Given the description of an element on the screen output the (x, y) to click on. 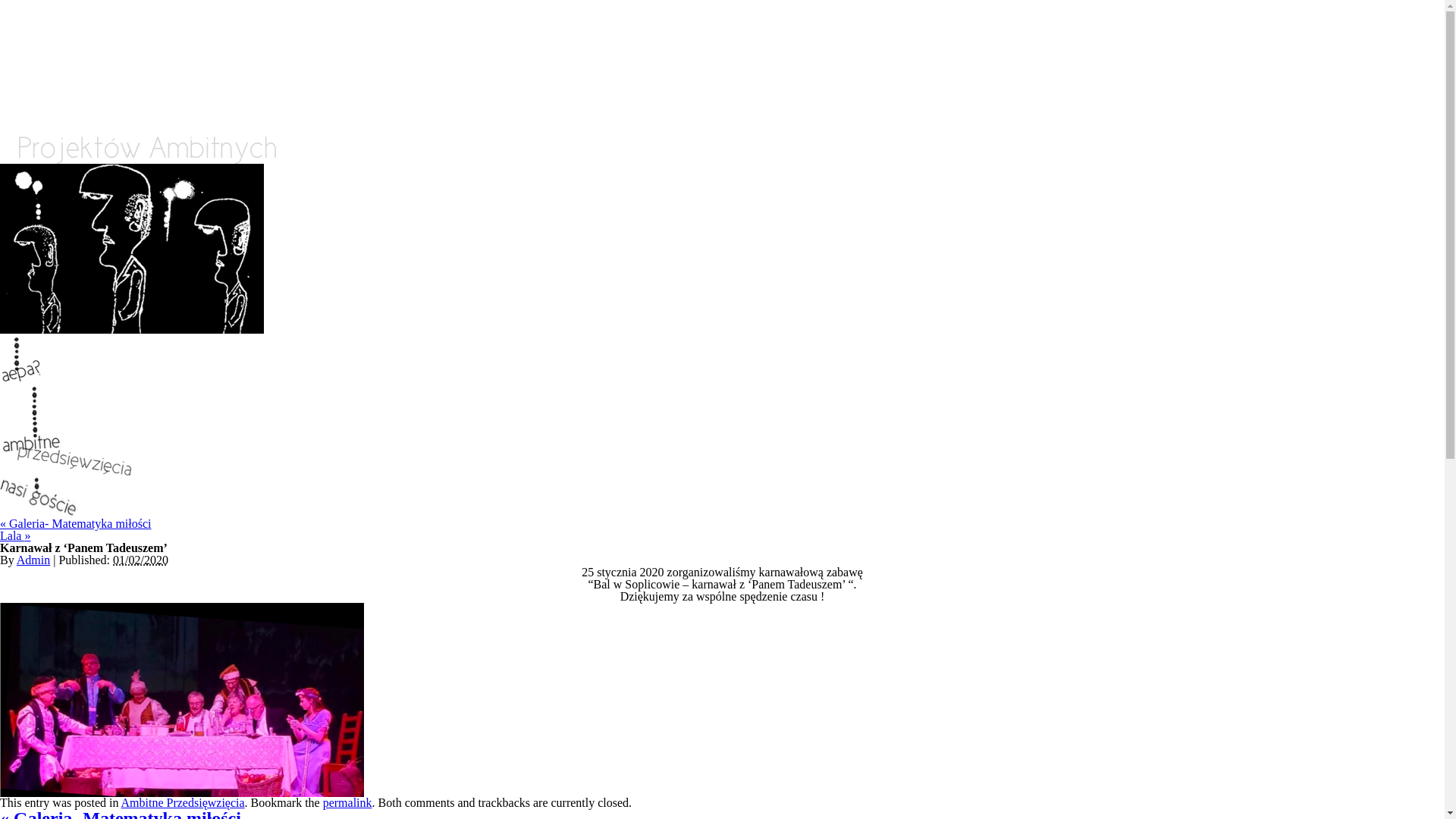
O AEPAie Element type: hover (36, 329)
Admin Element type: text (33, 559)
permalink Element type: text (347, 802)
